Given the description of an element on the screen output the (x, y) to click on. 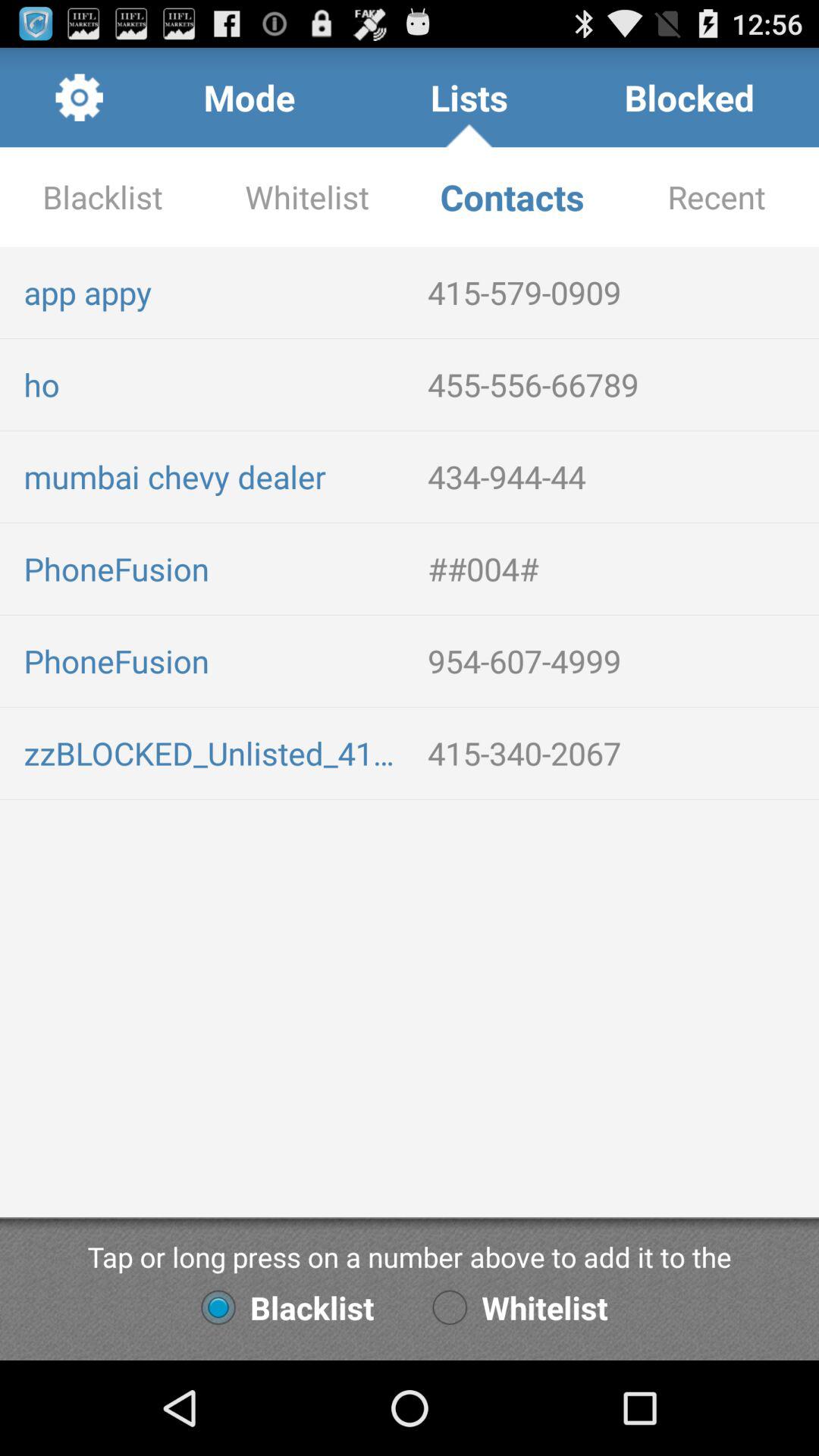
choose icon below the ho app (213, 476)
